Given the description of an element on the screen output the (x, y) to click on. 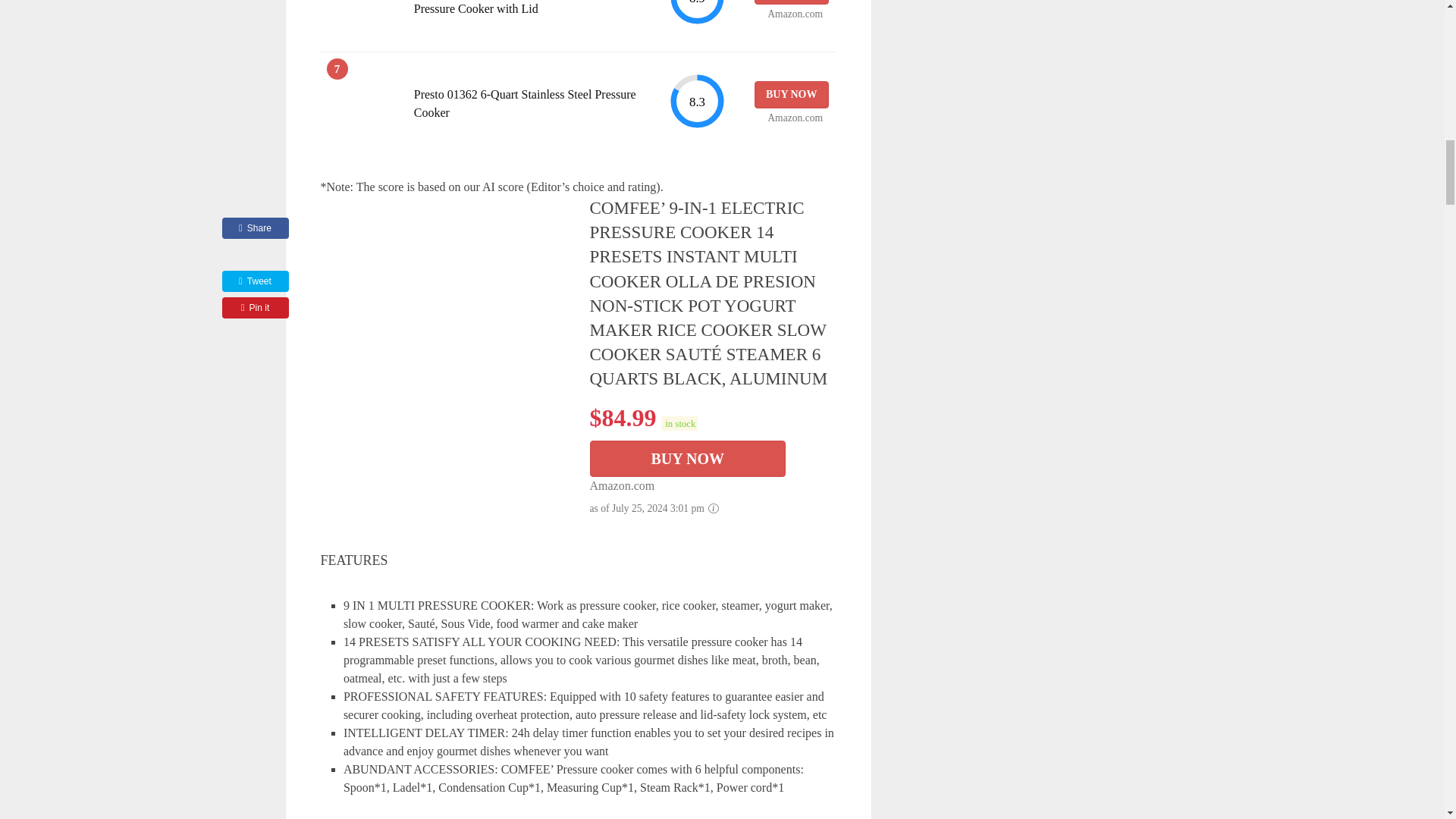
8.9 (696, 12)
Last updated on July 25, 2024 3:01 pm (679, 423)
8.3 (696, 100)
